Given the description of an element on the screen output the (x, y) to click on. 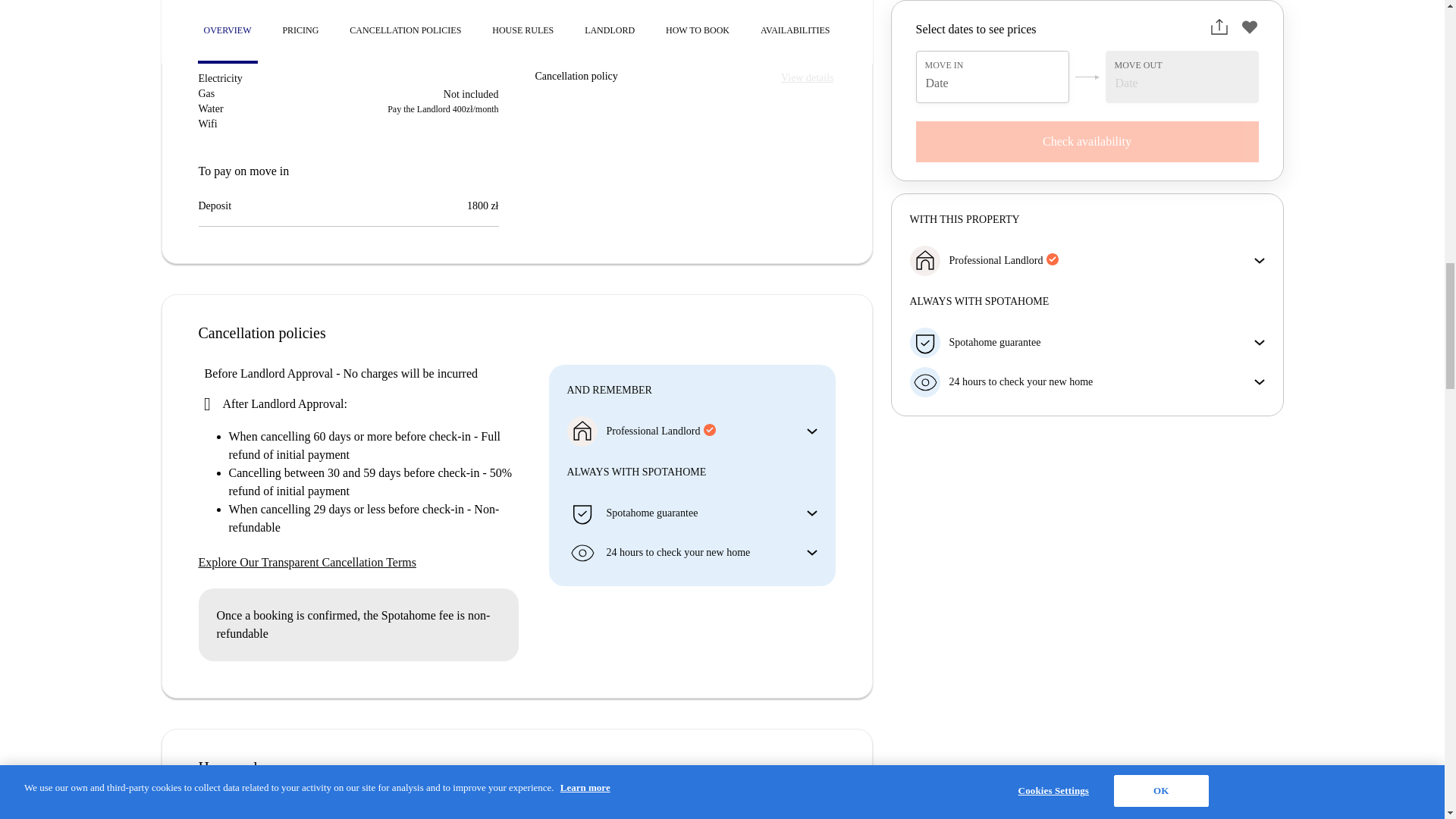
View details (806, 77)
Suggest price (251, 8)
Explore Our Transparent Cancellation Terms (358, 562)
